Given the description of an element on the screen output the (x, y) to click on. 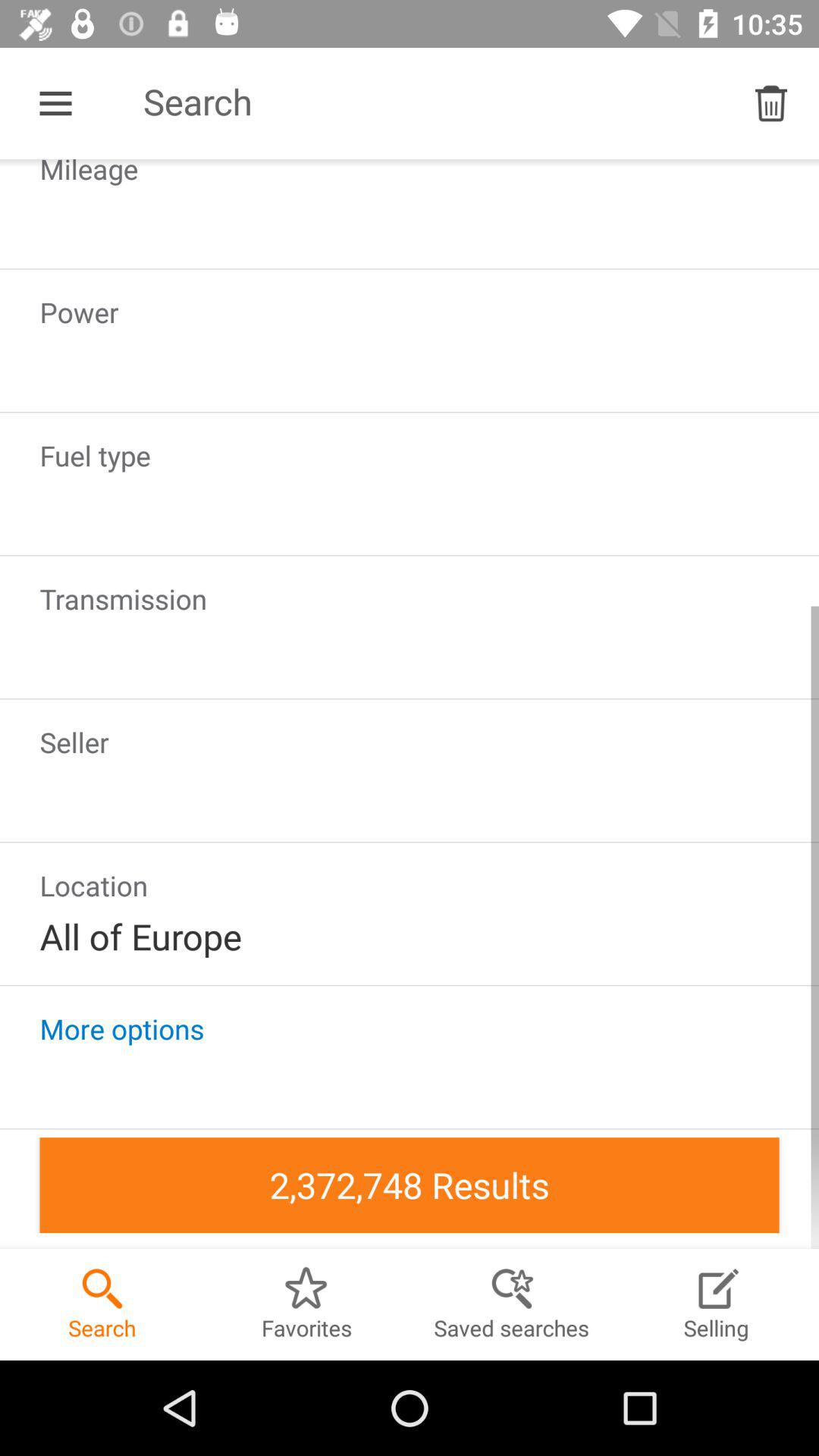
scroll to 2 372 748 (409, 1185)
